Given the description of an element on the screen output the (x, y) to click on. 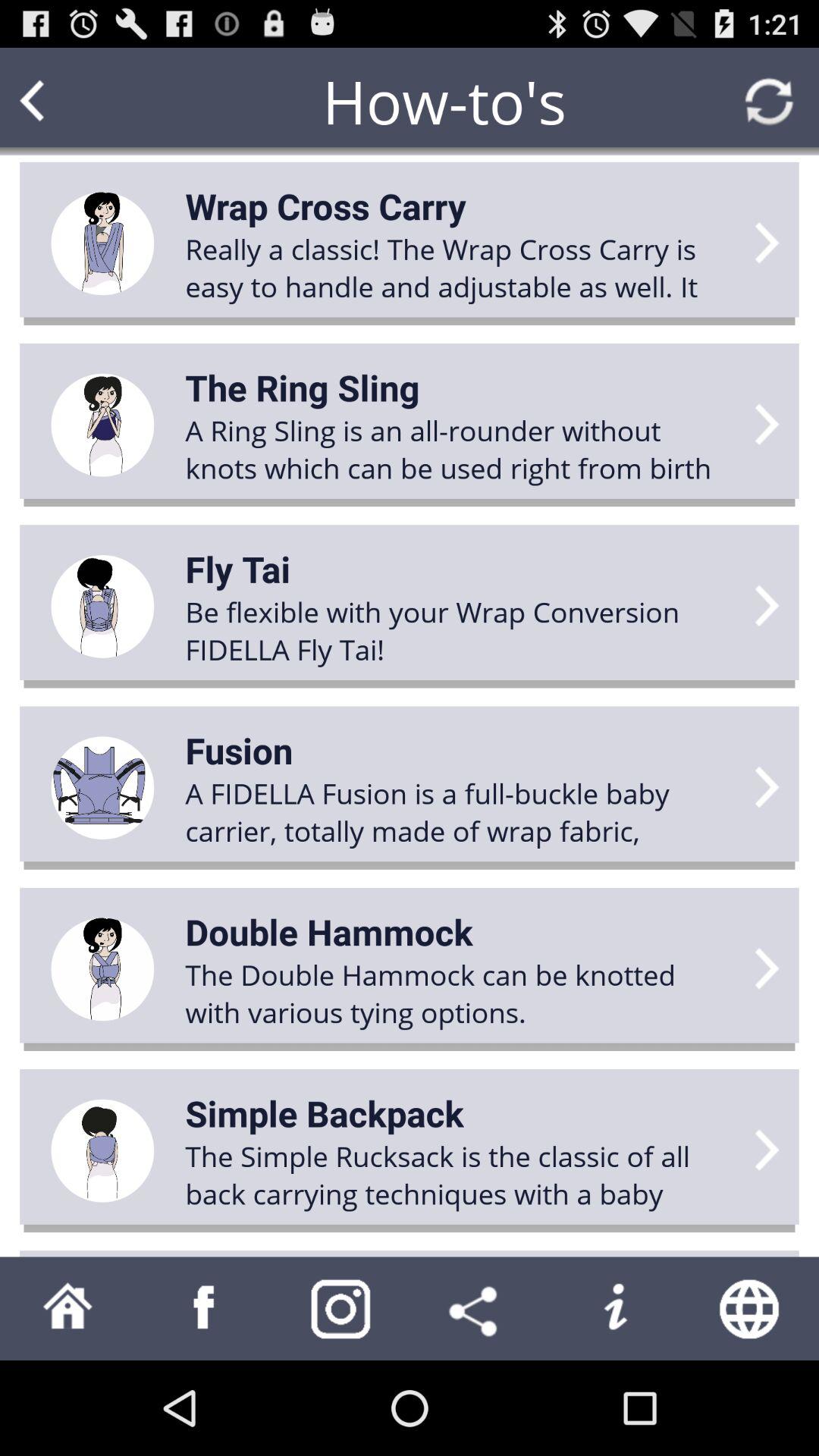
choose item below the the simple rucksack icon (614, 1308)
